Given the description of an element on the screen output the (x, y) to click on. 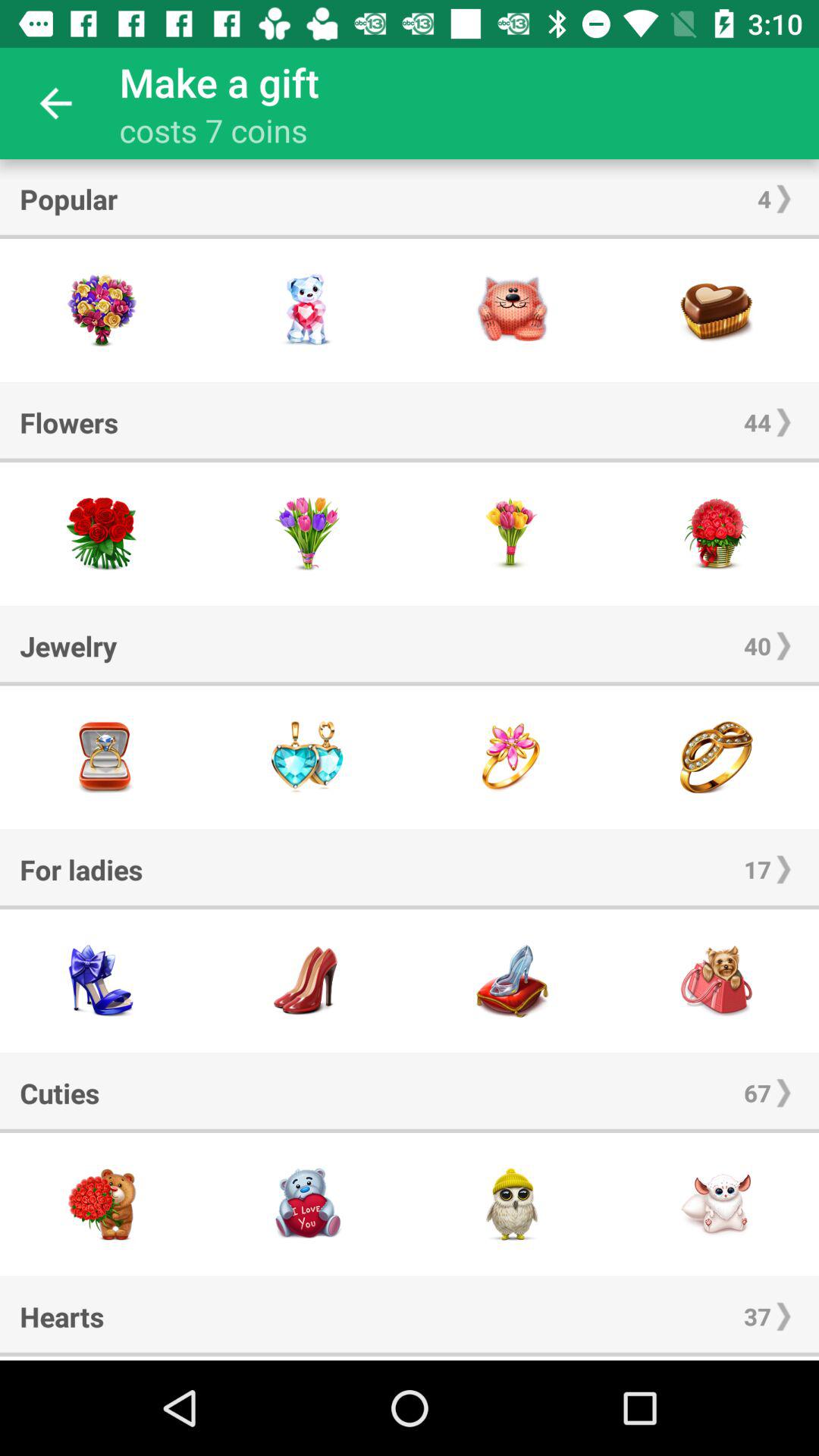
turn off the icon next to 44 icon (68, 422)
